Given the description of an element on the screen output the (x, y) to click on. 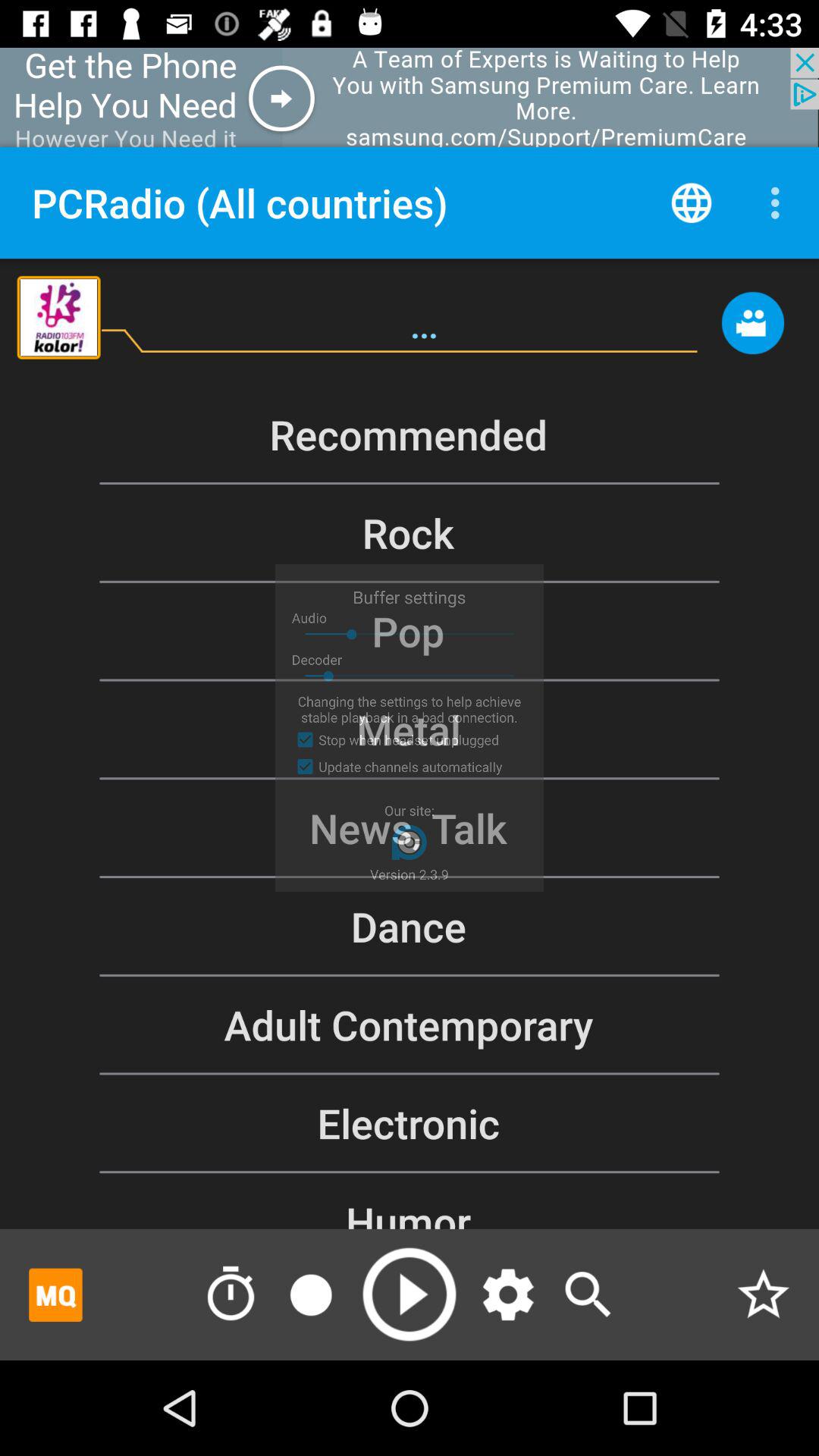
to search option (588, 1294)
